Given the description of an element on the screen output the (x, y) to click on. 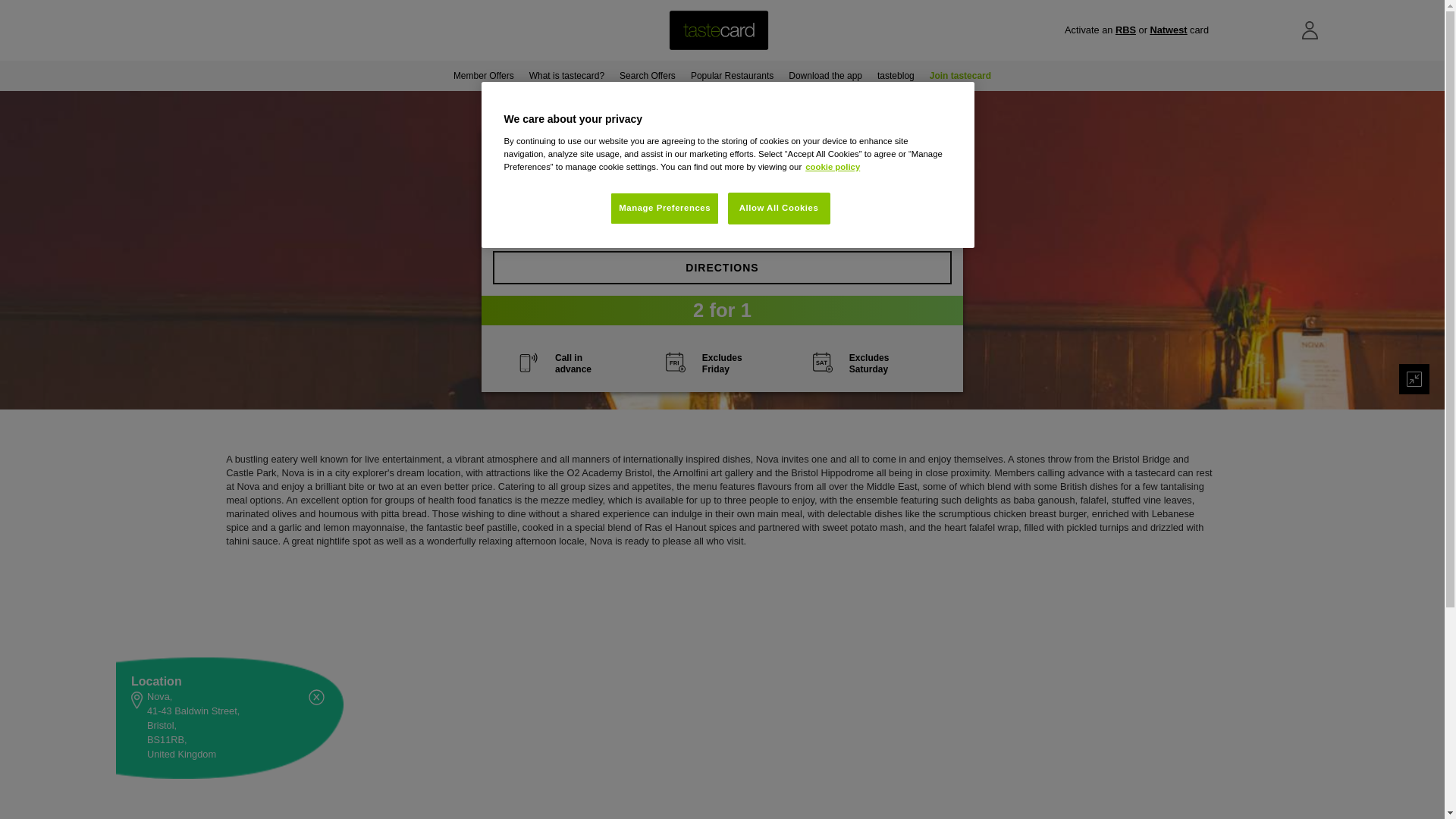
RBS (1125, 30)
Popular Restaurants (731, 75)
Natwest (1168, 30)
What is tastecard? (566, 75)
Search Offers (646, 75)
Member Offers (483, 75)
